Given the description of an element on the screen output the (x, y) to click on. 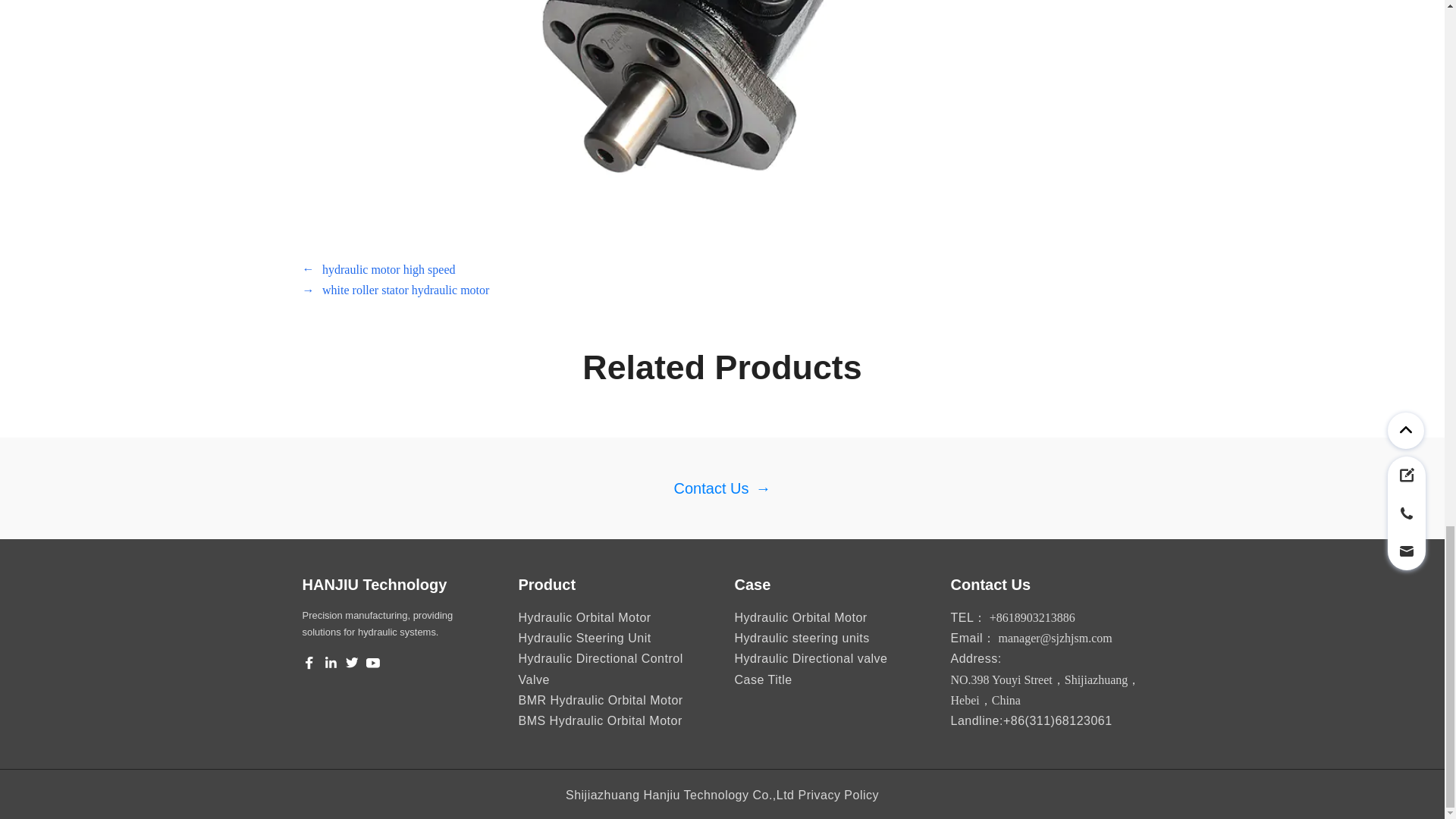
Hydraulic Orbital Motor (799, 617)
Hydraulic steering units (801, 637)
Hydraulic Orbital Motor (584, 617)
Hydraulic Directional valve (809, 658)
BMR Hydraulic Orbital Motor (600, 699)
Hydraulic Steering Unit (584, 637)
white roller stator hydraulic motor (405, 290)
hydraulic motor high speed (388, 269)
BMS Hydraulic Orbital Motor (600, 720)
Case Title (762, 679)
Hydraulic Directional Control Valve (614, 679)
